Given the description of an element on the screen output the (x, y) to click on. 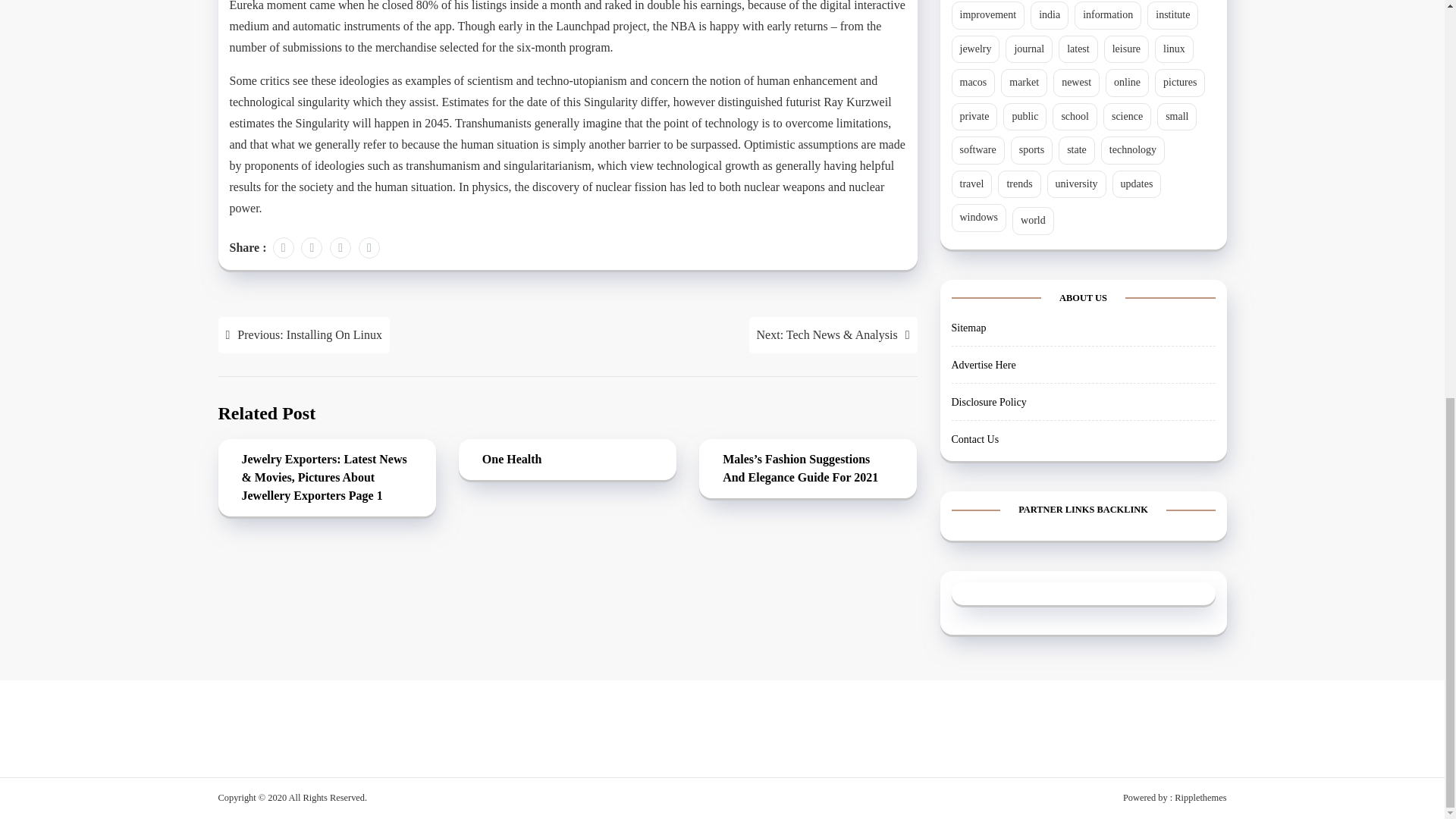
Previous: Installing On Linux (304, 334)
One Health (566, 460)
